Given the description of an element on the screen output the (x, y) to click on. 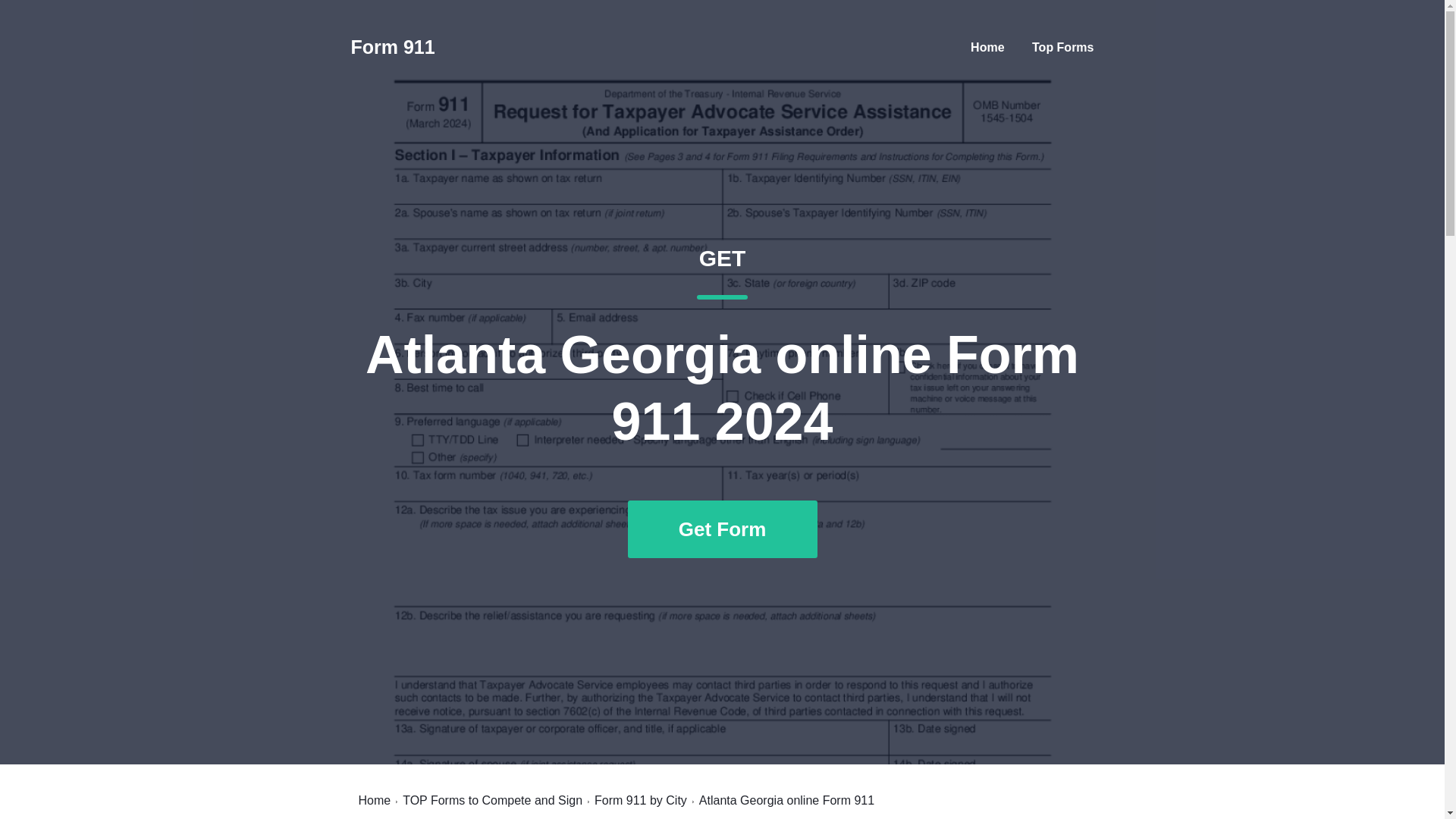
Home (374, 800)
Home (987, 47)
Top Forms (640, 800)
TOP Forms to Compete and Sign (1062, 47)
Form 911 (492, 800)
